Given the description of an element on the screen output the (x, y) to click on. 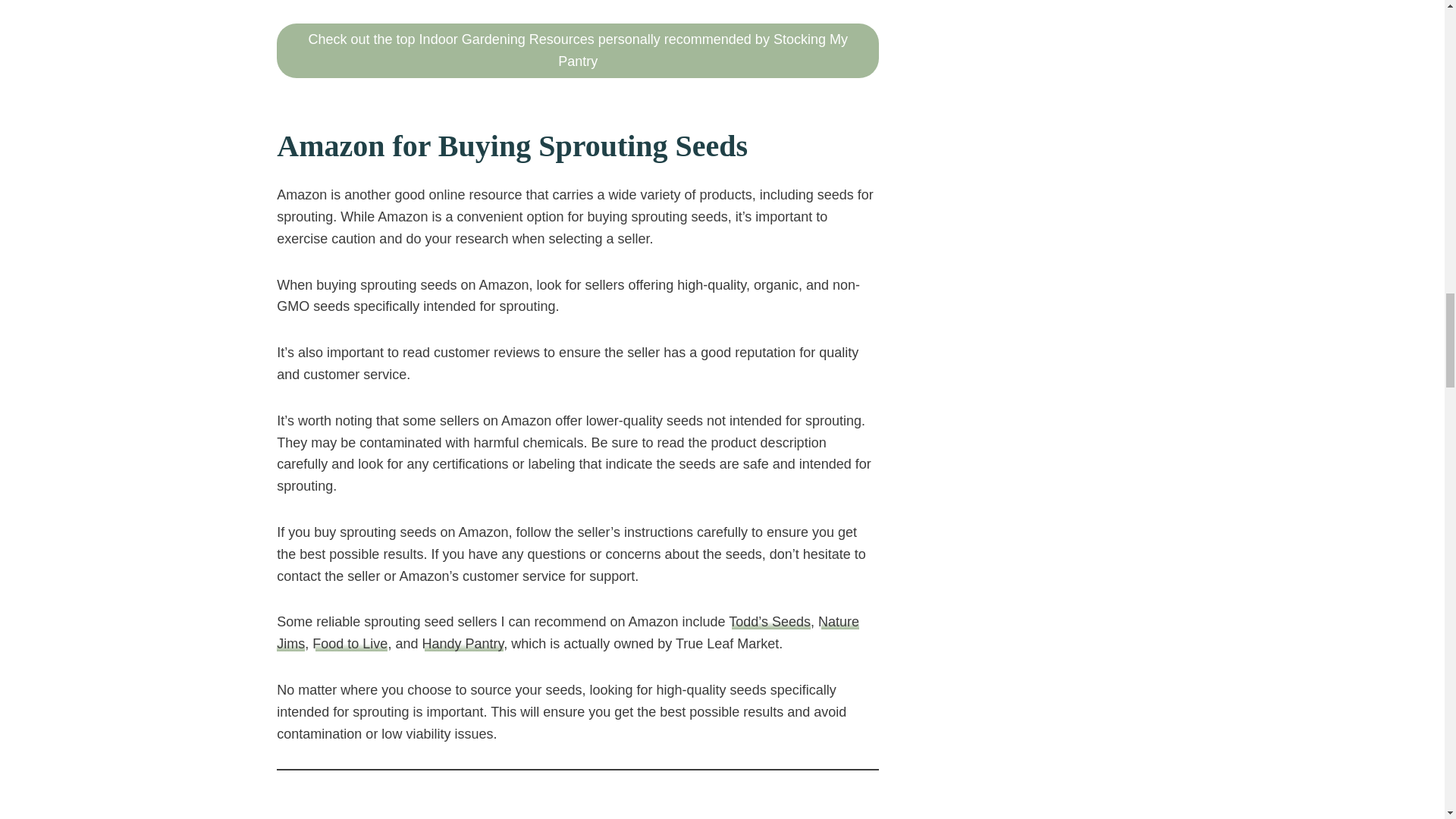
Handy Pantry (462, 643)
Food to Live (350, 643)
Nature Jims (567, 632)
